Given the description of an element on the screen output the (x, y) to click on. 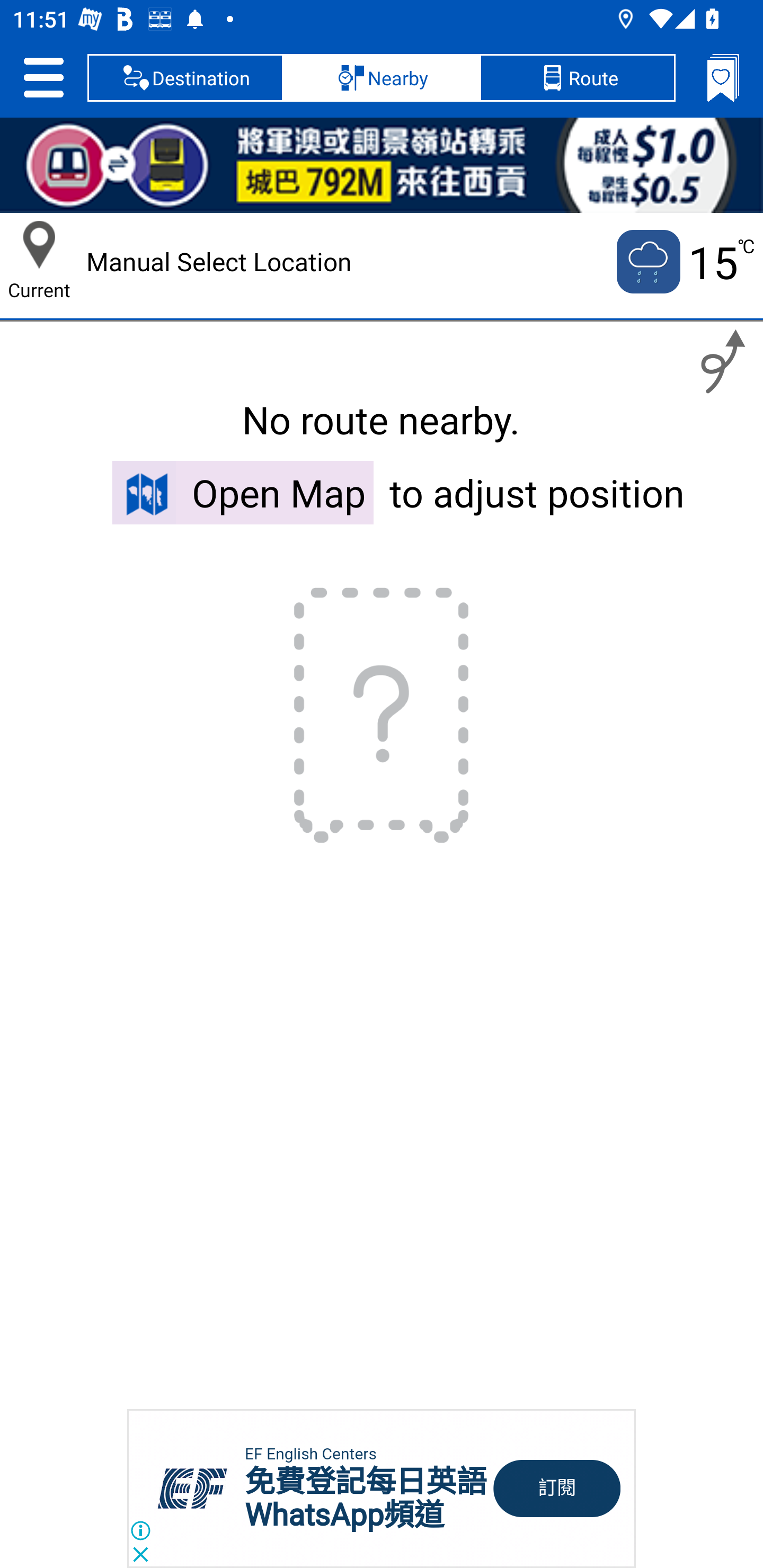
Destination (185, 77)
Nearby, selected (381, 77)
Route (577, 77)
Bookmarks (723, 77)
Setting (43, 77)
792M BRI (381, 165)
Current Location (38, 244)
Current temputure is  15  no 15 ℃ (684, 261)
Open Map (242, 491)
EF English Centers (310, 1454)
訂閱 (556, 1488)
免費登記每日英語 WhatsApp頻道 免費登記每日英語 WhatsApp頻道 (365, 1497)
